Given the description of an element on the screen output the (x, y) to click on. 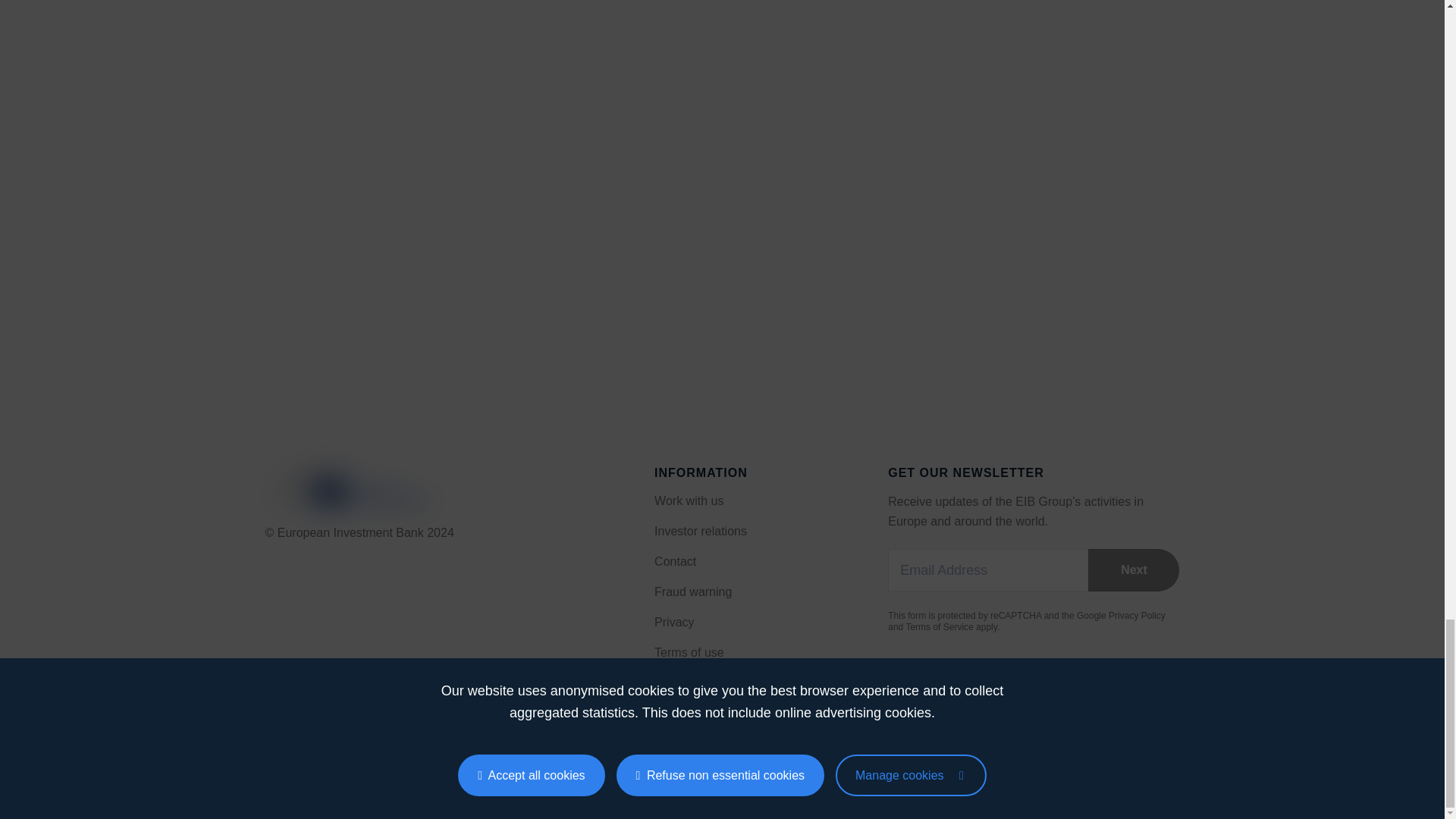
Linkedin (332, 763)
Facebook (301, 763)
Rss (271, 763)
Twitter (364, 763)
Youtube (394, 763)
